Given the description of an element on the screen output the (x, y) to click on. 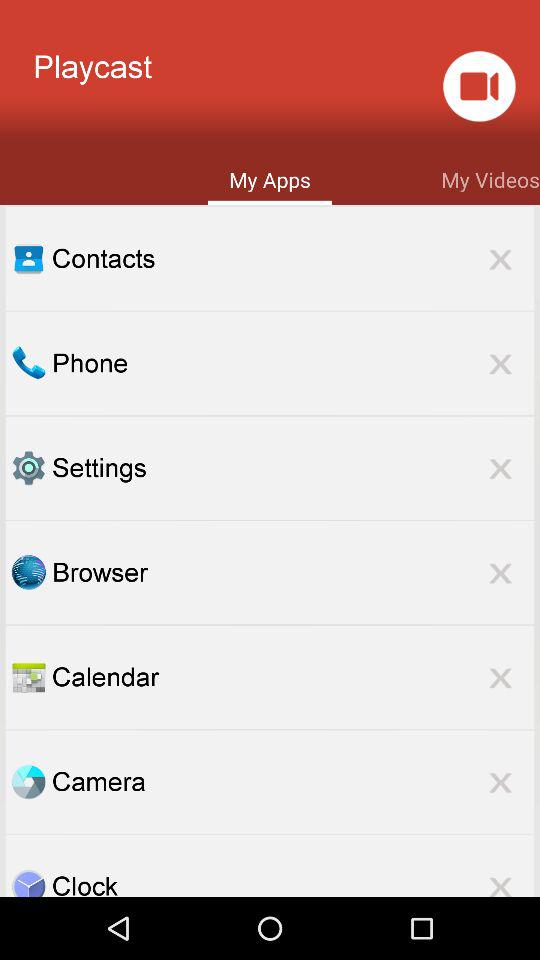
scroll until browser (293, 572)
